Given the description of an element on the screen output the (x, y) to click on. 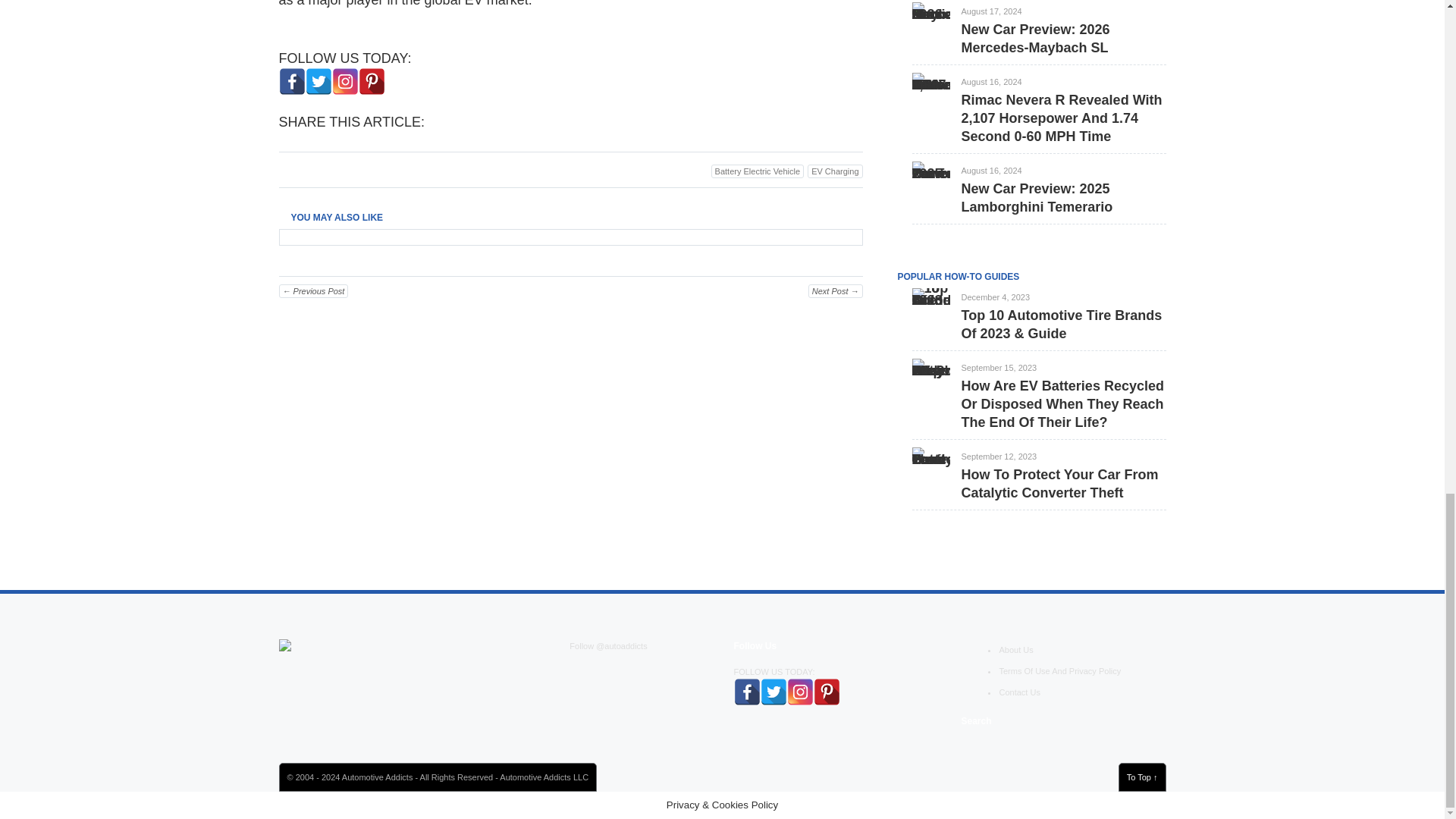
Pinterest (371, 81)
Facebook (292, 81)
Twitter (317, 81)
Instagram (344, 81)
